Given the description of an element on the screen output the (x, y) to click on. 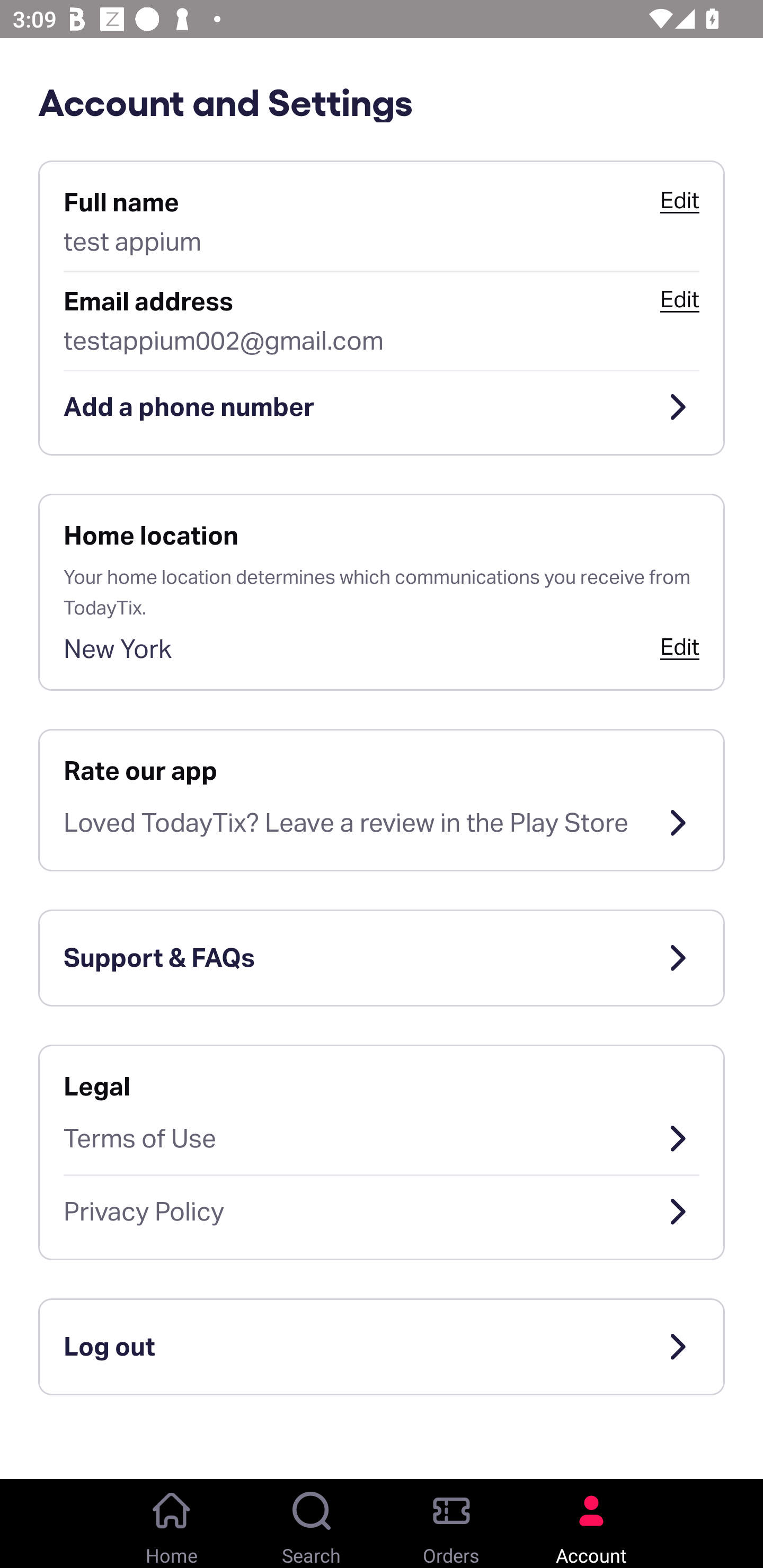
Edit (679, 200)
Edit (679, 299)
Add a phone number (381, 406)
Edit (679, 646)
Loved TodayTix? Leave a review in the Play Store (381, 822)
Support & FAQs (381, 957)
Terms of Use (381, 1137)
Privacy Policy (381, 1211)
Log out (381, 1346)
Home (171, 1523)
Search (311, 1523)
Orders (451, 1523)
